Given the description of an element on the screen output the (x, y) to click on. 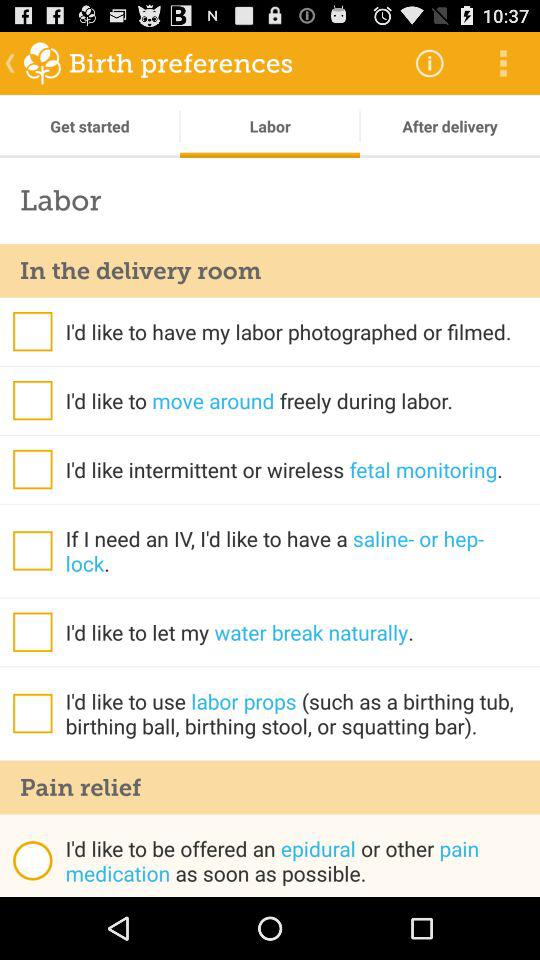
question or help option (32, 331)
